Given the description of an element on the screen output the (x, y) to click on. 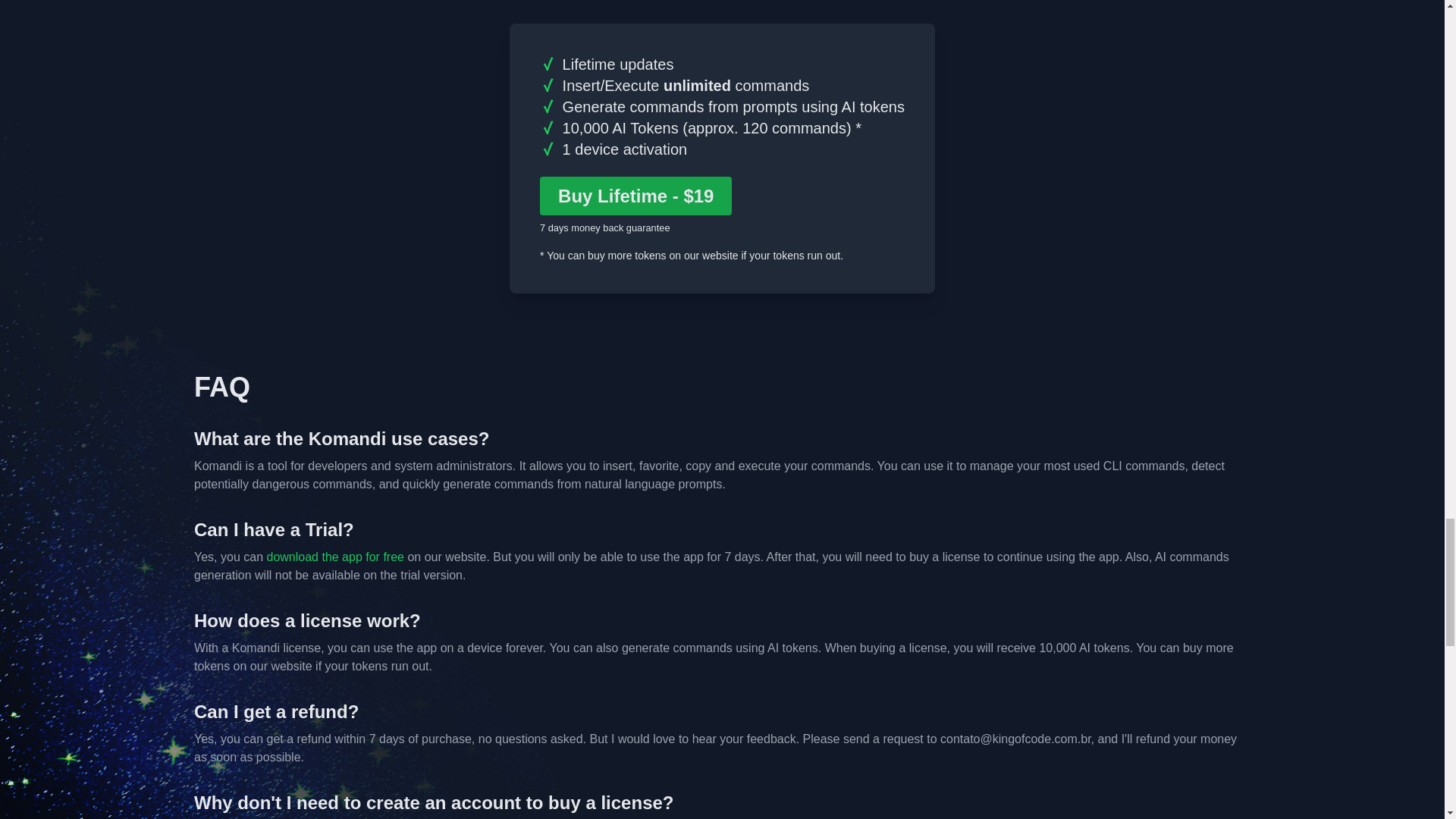
download the app for free (334, 556)
